Given the description of an element on the screen output the (x, y) to click on. 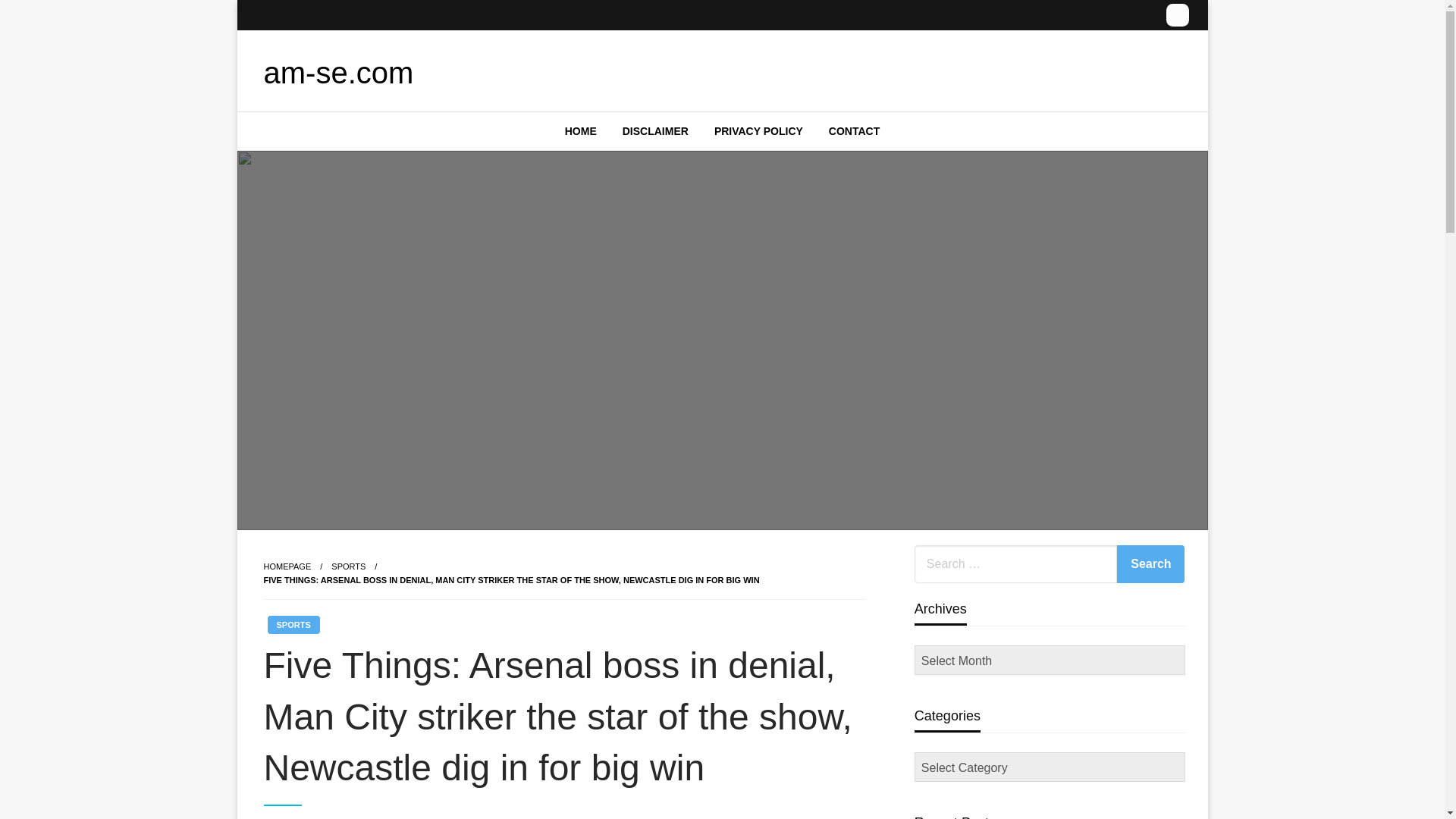
DISCLAIMER (655, 130)
SPORTS (348, 565)
Search (1150, 564)
HOME (580, 130)
PRIVACY POLICY (758, 130)
Sports (348, 565)
SPORTS (292, 624)
Search (1150, 564)
CONTACT (853, 130)
HOMEPAGE (287, 565)
Homepage (287, 565)
am-se.com (338, 72)
Search (1150, 564)
